Given the description of an element on the screen output the (x, y) to click on. 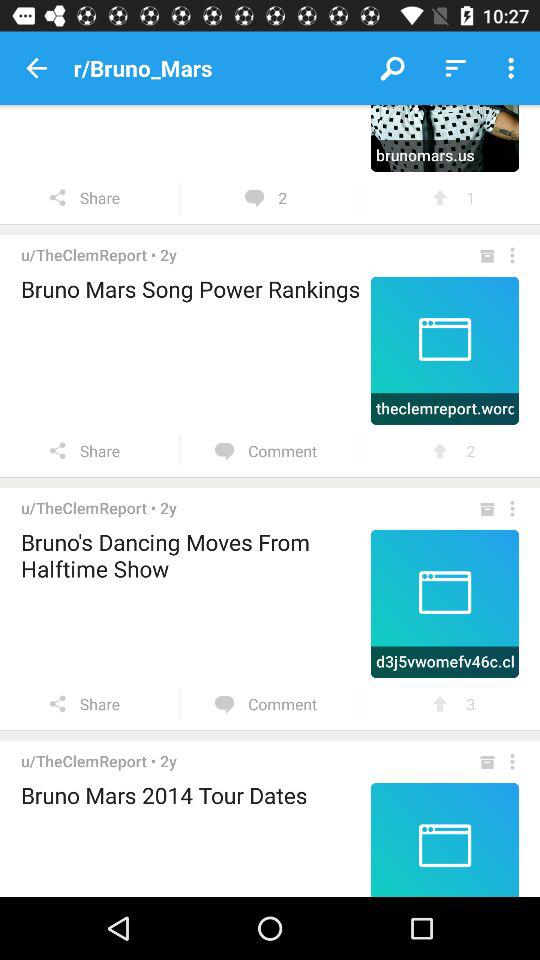
select the third thumbnail (444, 603)
